Given the description of an element on the screen output the (x, y) to click on. 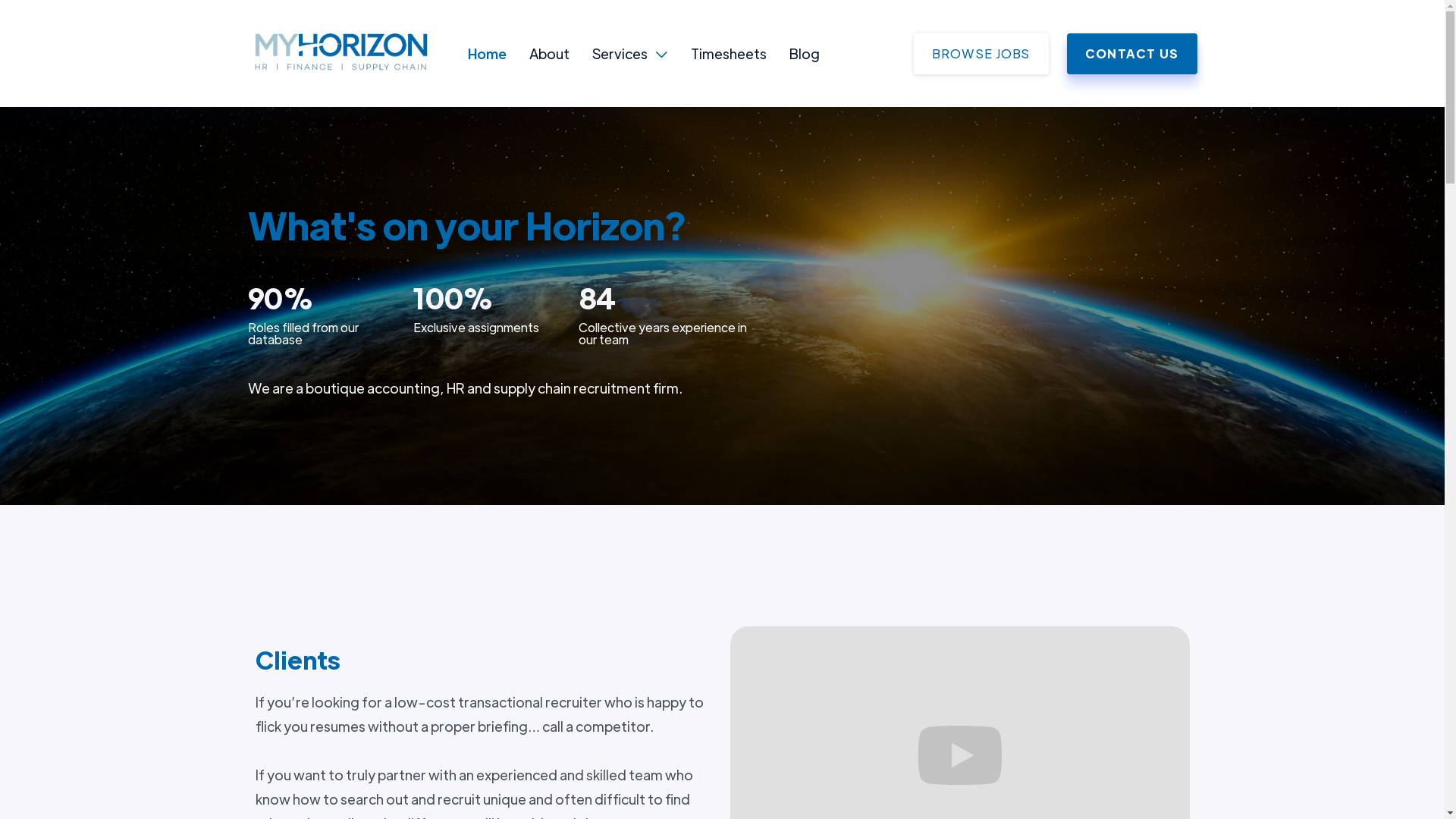
Home Element type: text (486, 53)
CONTACT US Element type: text (1131, 53)
About Element type: text (549, 53)
Timesheets Element type: text (727, 53)
Blog Element type: text (803, 53)
Services Element type: text (618, 53)
BROWSE JOBS Element type: text (980, 53)
